Given the description of an element on the screen output the (x, y) to click on. 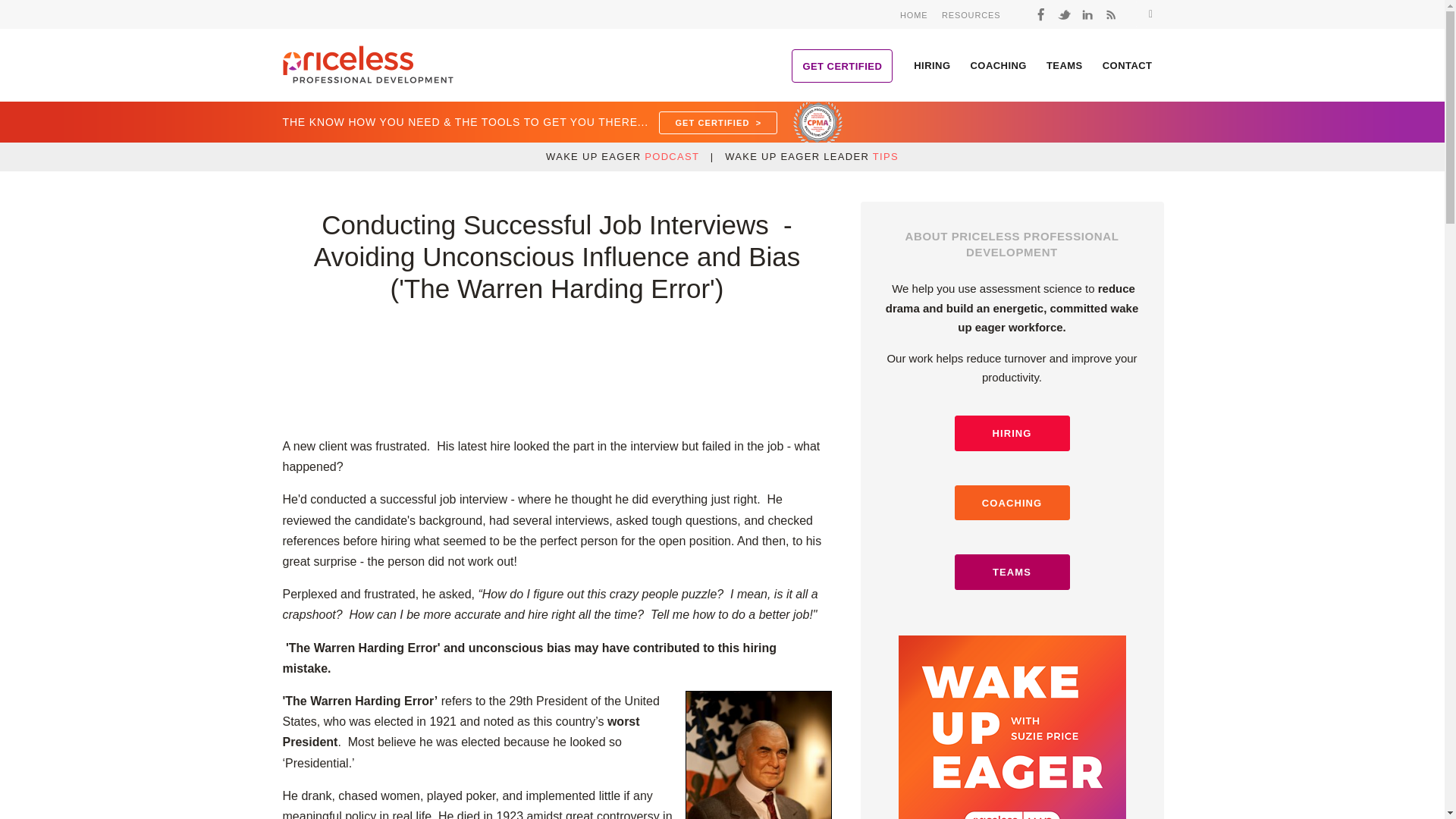
Priceless Professional on Twitter (1064, 14)
GET CERTIFIED (842, 65)
TEAMS (1064, 65)
PRICELESSPROFESSIONAL.COM (373, 64)
PODCAST (671, 156)
Priceless Professional on Facebook (1040, 14)
Priceless Professional on LinkedIn (1087, 14)
TIPS (885, 156)
HIRING (1010, 433)
Priceless Professional RSS Feed (1110, 14)
conducting successful interviews (758, 755)
HIRING (931, 65)
